Given the description of an element on the screen output the (x, y) to click on. 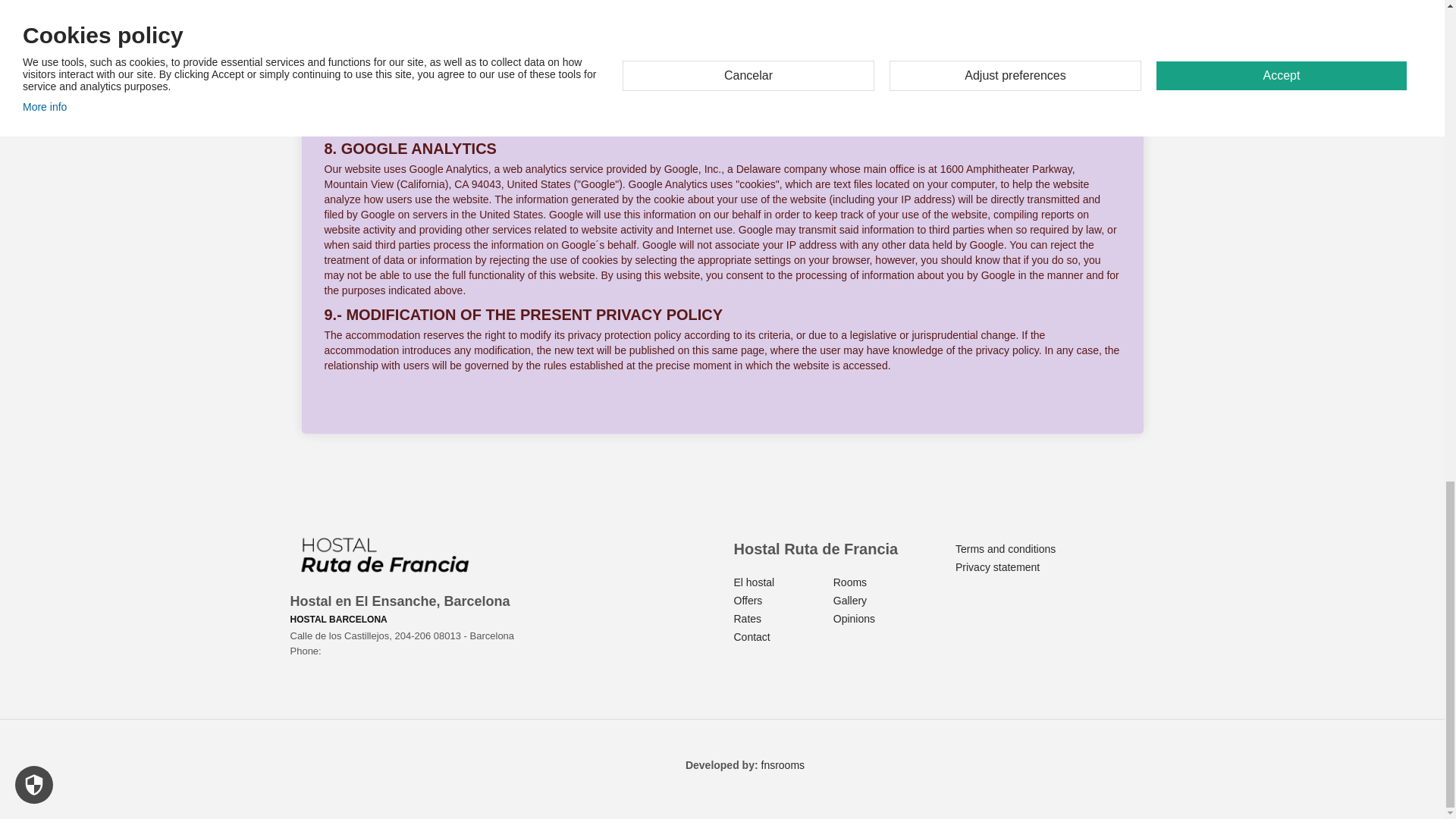
Hostal en El Ensanche (384, 555)
Contact (751, 636)
fnsrooms (783, 765)
Offers (747, 600)
El hostal (753, 582)
Opinions (853, 618)
Rooms (849, 582)
Privacy statement (997, 567)
Rates (747, 618)
Terms and conditions (1005, 548)
Gallery (849, 600)
